Given the description of an element on the screen output the (x, y) to click on. 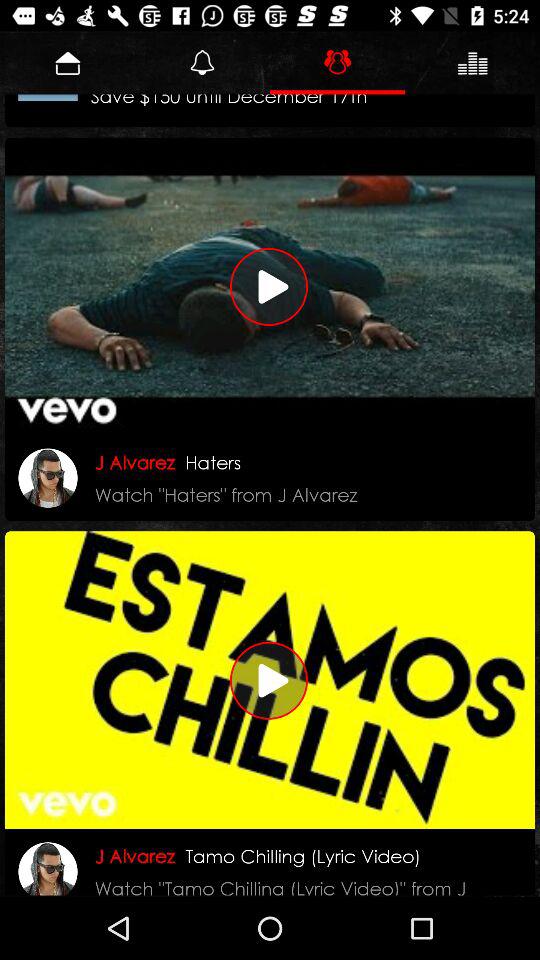
launch icon next to the ste anne s (47, 97)
